Given the description of an element on the screen output the (x, y) to click on. 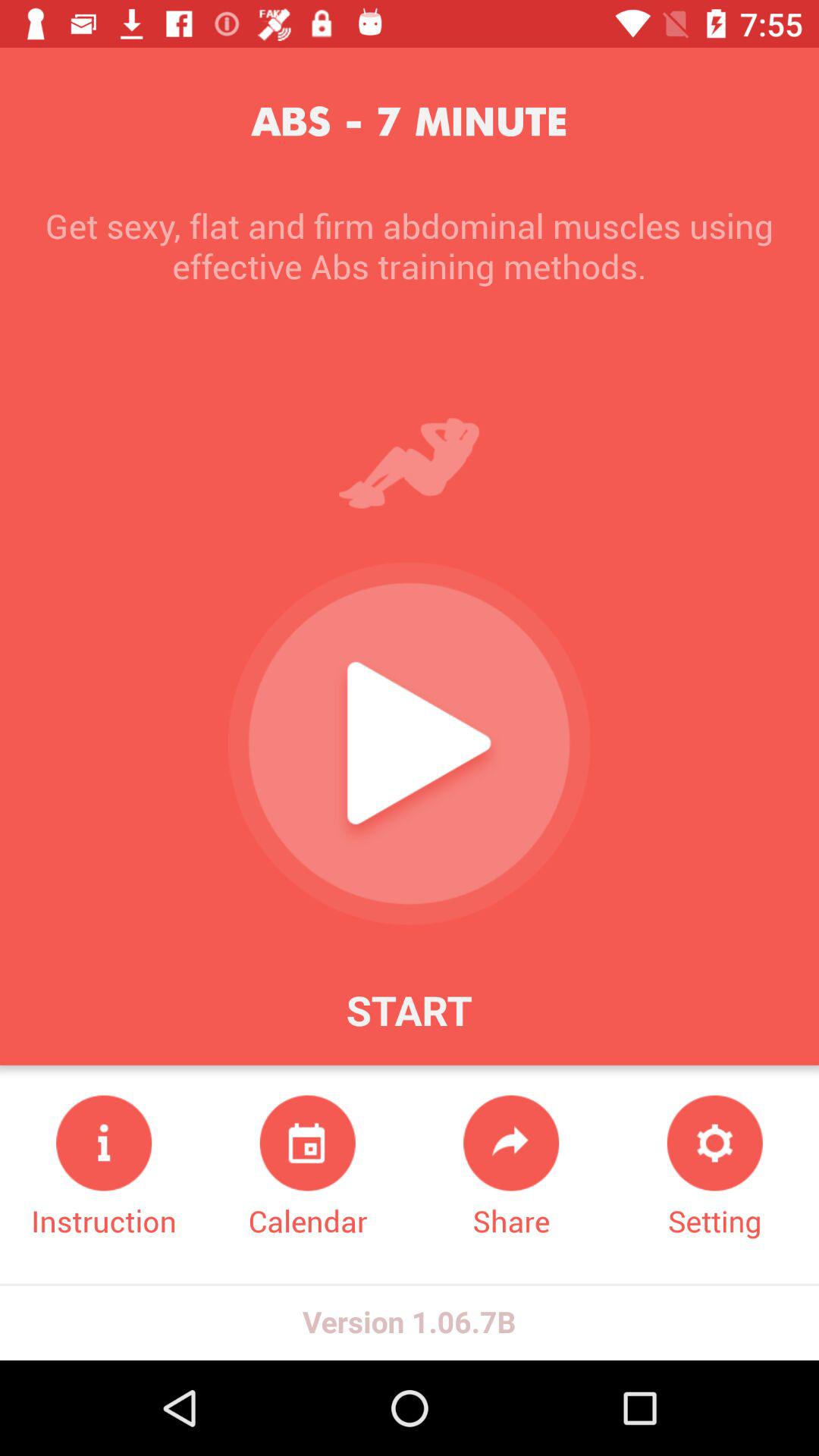
click instruction item (103, 1168)
